Given the description of an element on the screen output the (x, y) to click on. 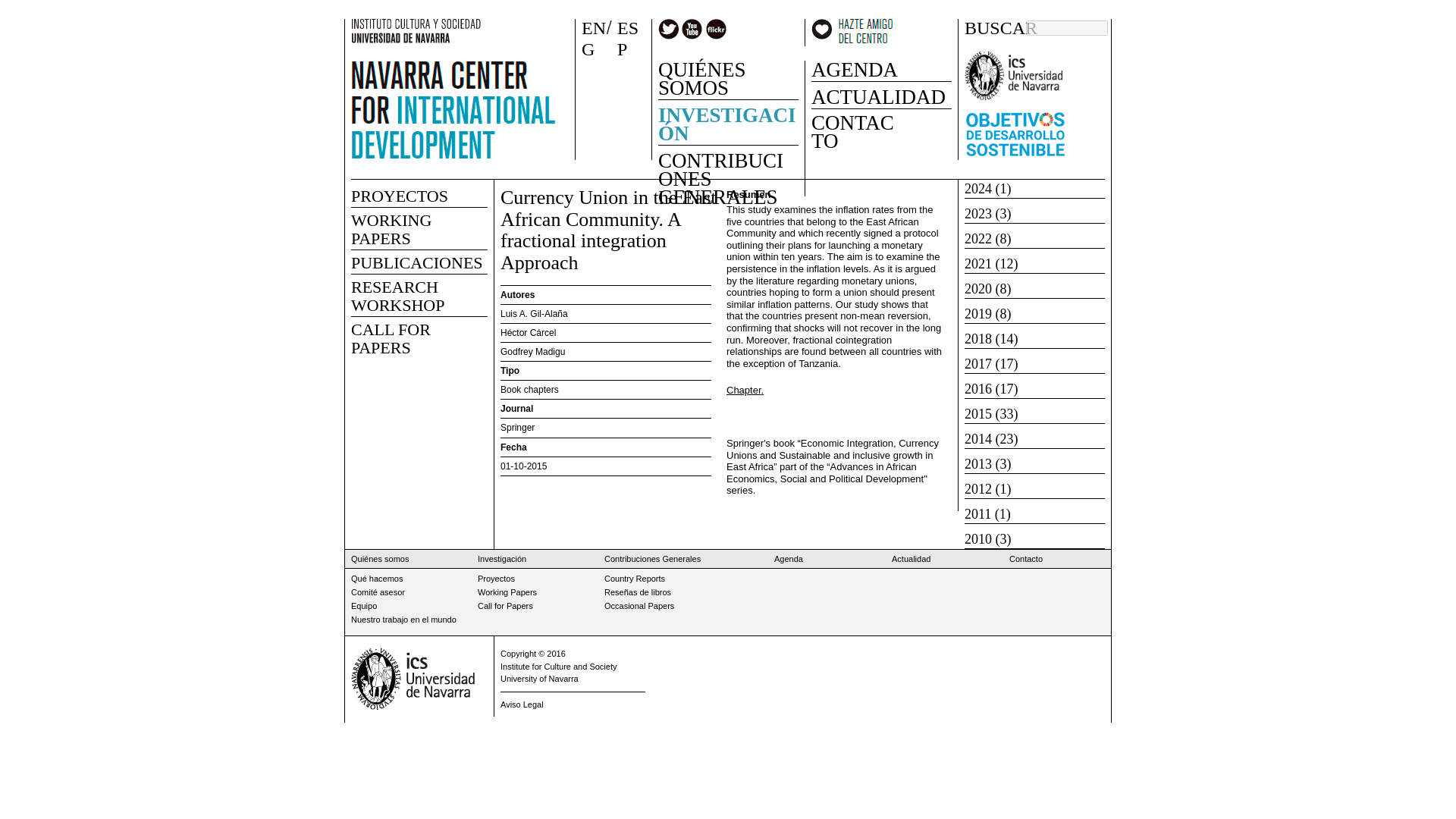
2010 (977, 539)
2014 (977, 438)
2024 (977, 188)
PUBLICACIONES (416, 262)
2023 (977, 213)
Twitter (668, 29)
Research Workshop (397, 295)
CALL FOR PAPERS (390, 338)
WORKING PAPERS (390, 229)
RESEARCH WORKSHOP (397, 295)
Escriba lo que quiere buscar. (1067, 28)
PROYECTOS (399, 195)
CONTRIBUCIONES GENERALES (726, 173)
2019 (977, 313)
2013 (977, 463)
